Given the description of an element on the screen output the (x, y) to click on. 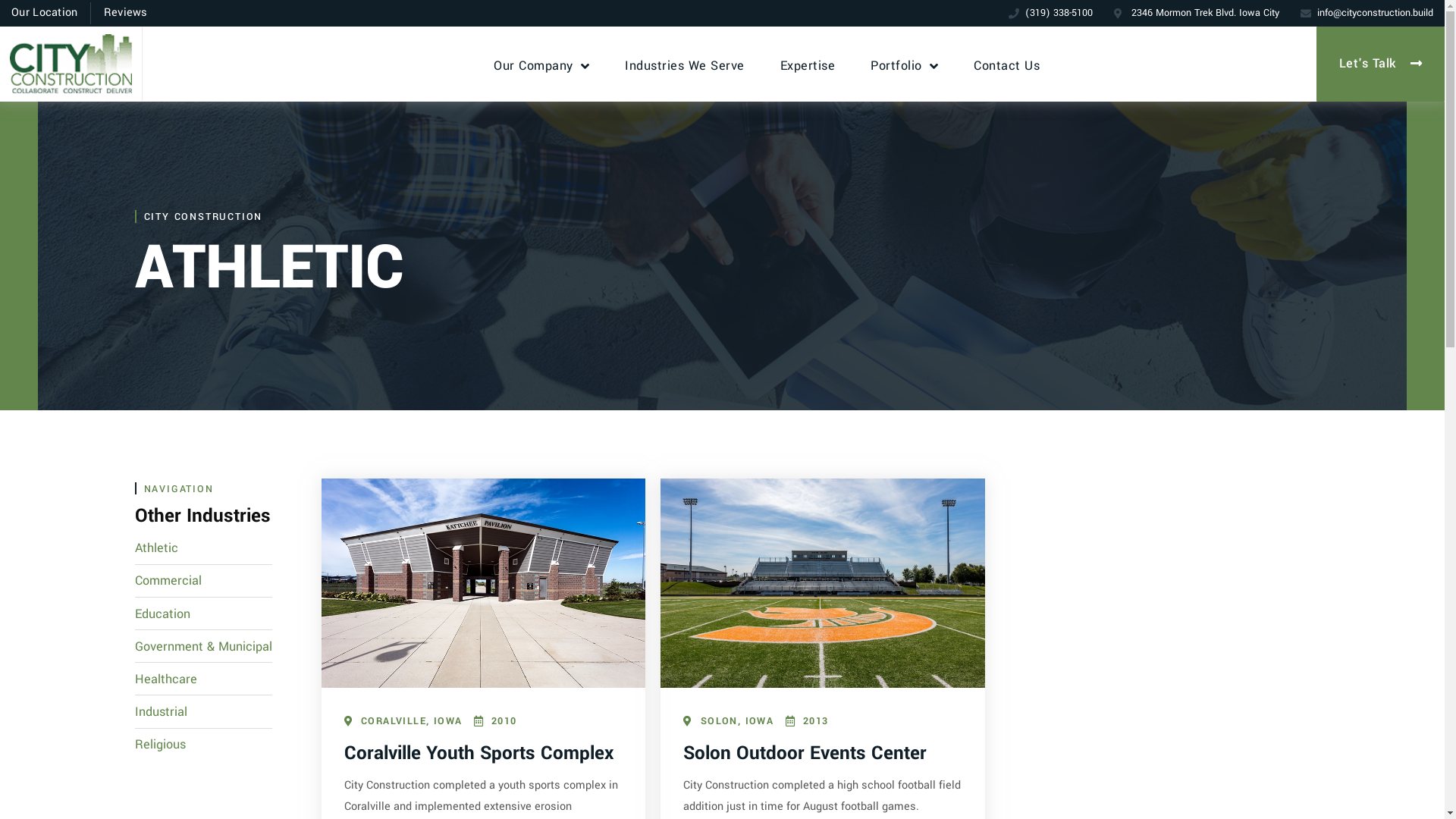
info@cityconstruction.build Element type: text (1366, 12)
2346 Mormon Trek Blvd. Iowa City Element type: text (1196, 12)
Our Company Element type: text (541, 64)
(319) 338-5100 Element type: text (1050, 12)
Reviews Element type: text (125, 12)
Government & Municipal Element type: text (203, 646)
Education Element type: text (203, 613)
Commercial Element type: text (203, 580)
Our Location Element type: text (44, 12)
Religious Element type: text (203, 744)
Athletic Element type: text (203, 547)
Let's Talk Element type: text (1380, 63)
Portfolio Element type: text (903, 64)
Expertise Element type: text (807, 64)
NAVIGATION Element type: text (178, 488)
Industrial Element type: text (203, 711)
Healthcare Element type: text (203, 679)
Industries We Serve Element type: text (684, 64)
Contact Us Element type: text (1006, 64)
